Given the description of an element on the screen output the (x, y) to click on. 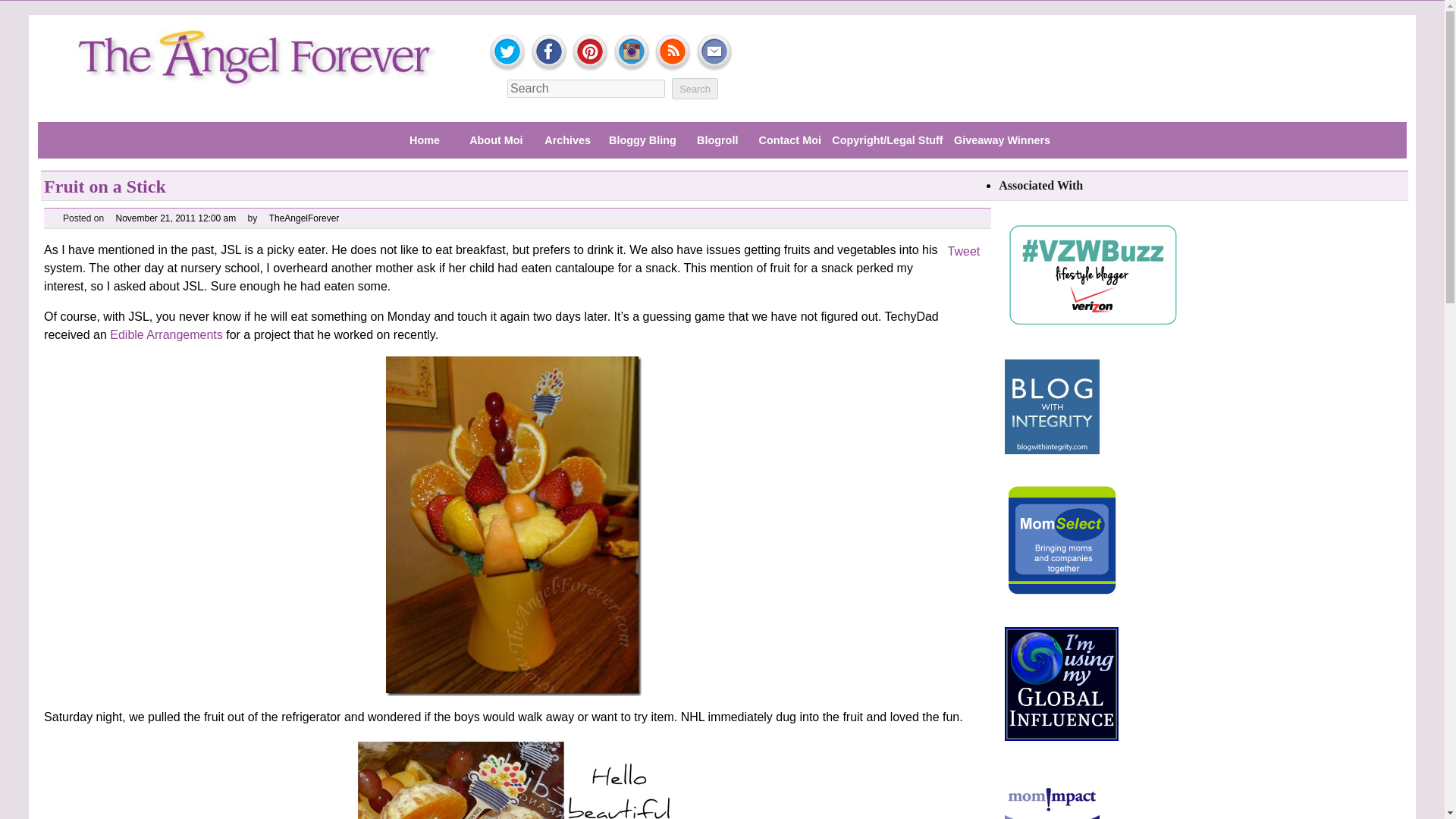
Tweet (963, 250)
TheAngelForever (304, 217)
Giveaway Winners (1002, 140)
Edible Arrangements (166, 334)
Mom Select (1061, 540)
About Moi (495, 140)
View all posts by TheAngelForever (304, 217)
November 21, 2011 12:00 am (175, 217)
Time to eat the fruit (513, 778)
Search (694, 88)
Contact Moi (789, 140)
November 21, 2011 12:00 am (175, 217)
Archives (568, 140)
Bloggy Bling (642, 140)
Search (694, 88)
